Given the description of an element on the screen output the (x, y) to click on. 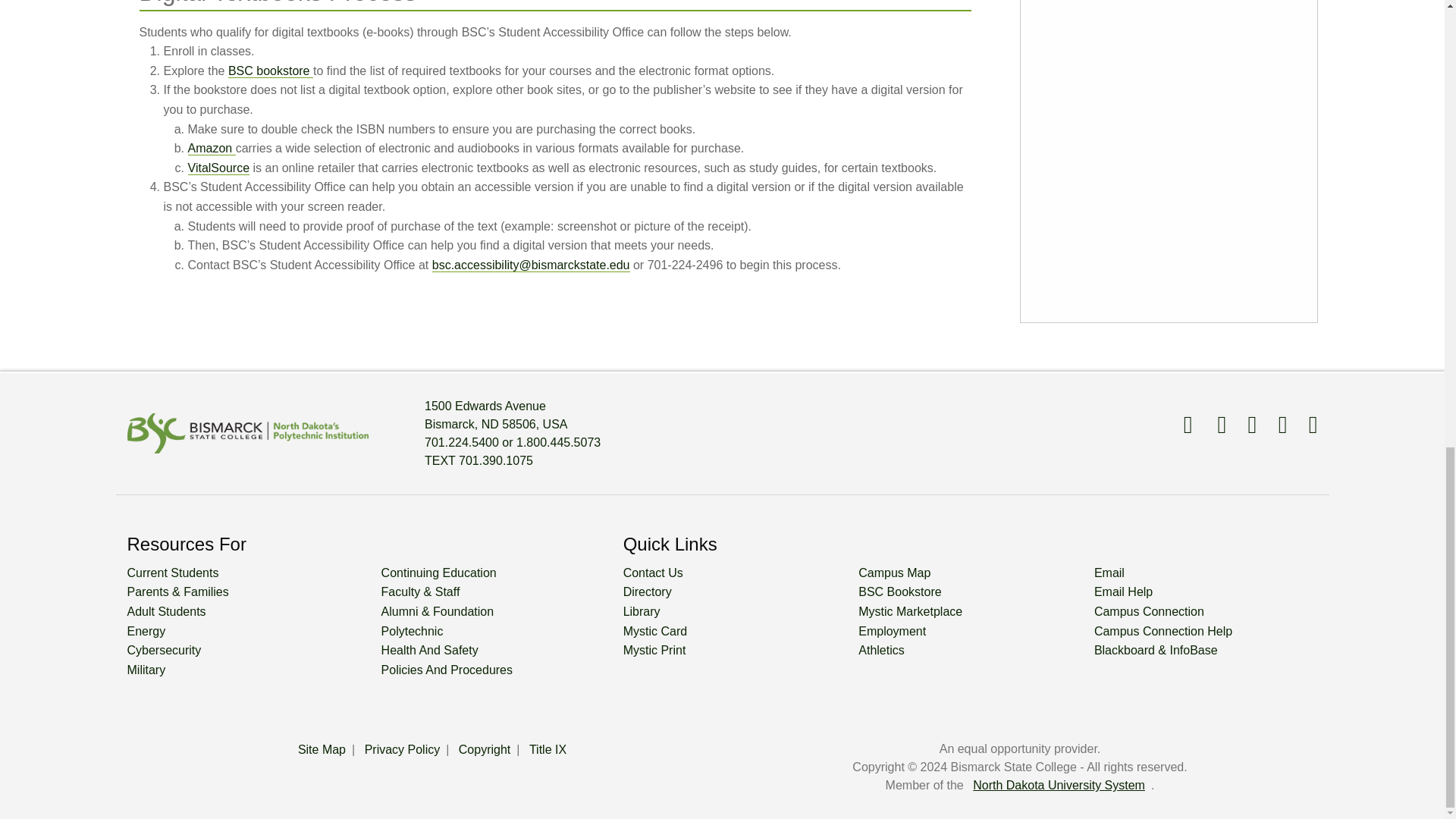
YouTube (1243, 424)
Vimeo (1273, 424)
Visit Merit (1303, 424)
